Given the description of an element on the screen output the (x, y) to click on. 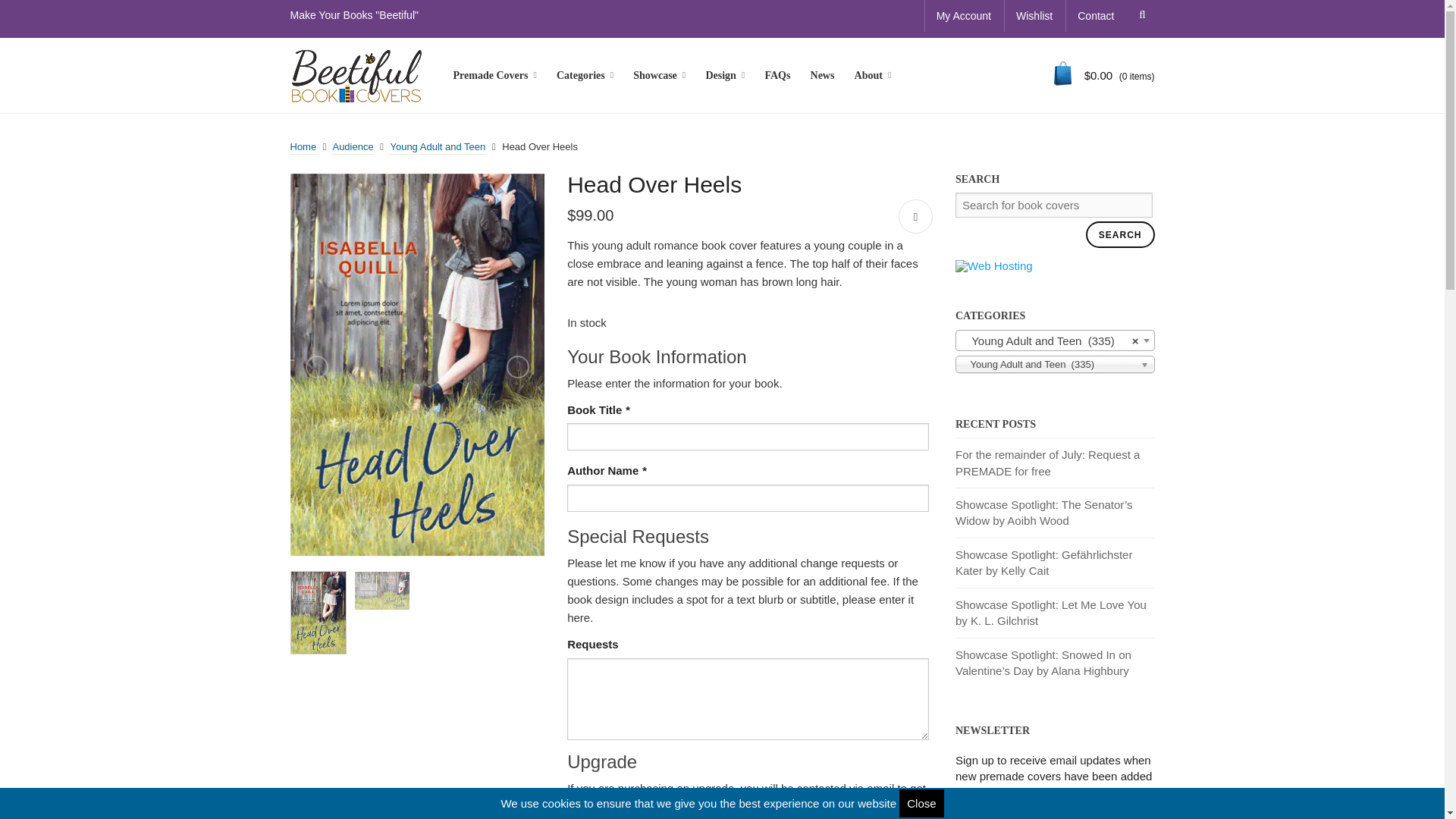
My Account (963, 15)
Wishlist (1034, 15)
Contact (1095, 15)
My Account (963, 15)
View your shopping cart (1104, 75)
Search (1139, 14)
Premade Covers (494, 75)
Wishlist (1034, 15)
Search (1120, 234)
Search (1139, 14)
Contact (1095, 15)
Search (1139, 14)
Search (1120, 234)
